Given the description of an element on the screen output the (x, y) to click on. 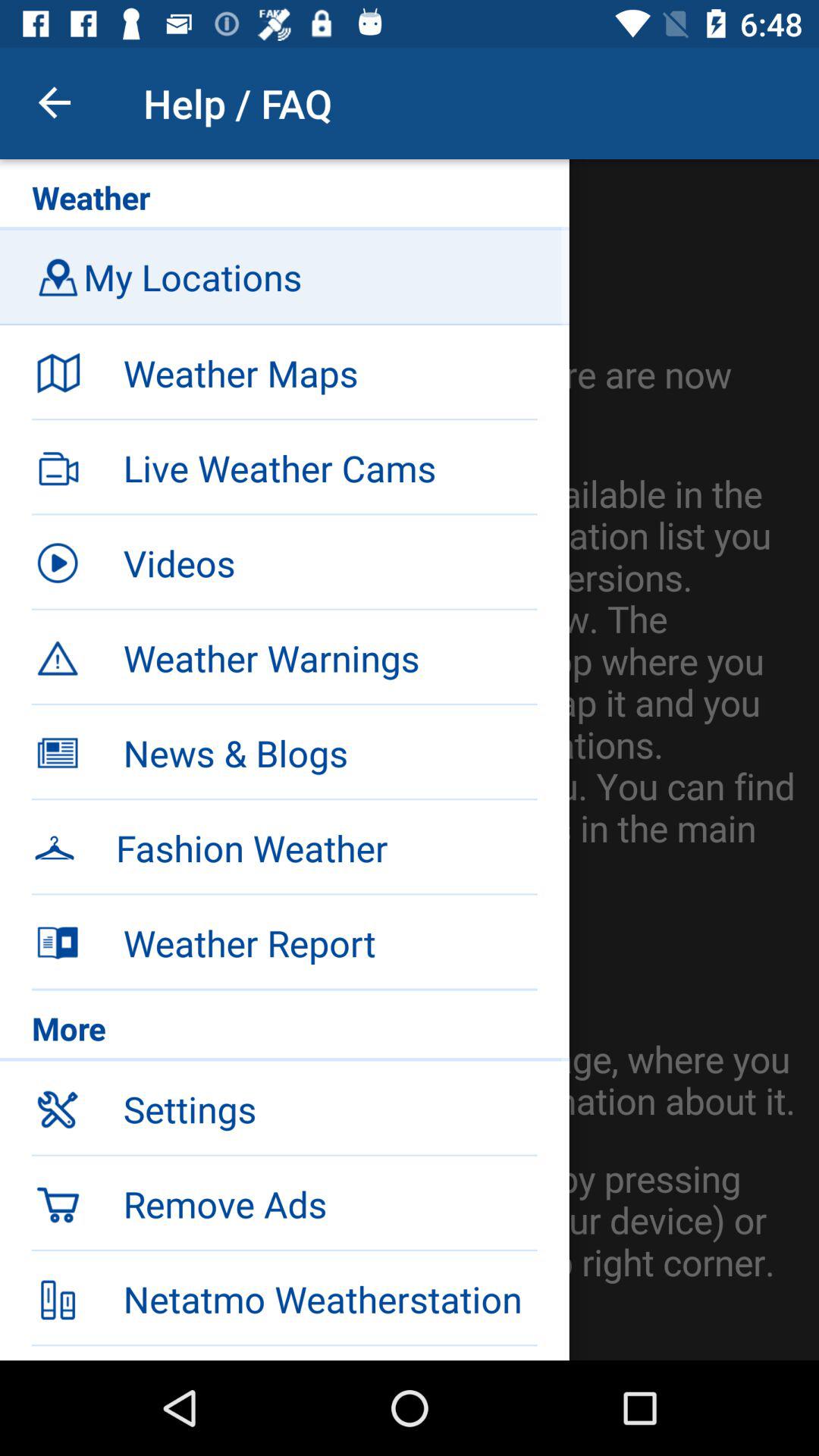
scroll to the live weather cams icon (330, 467)
